Given the description of an element on the screen output the (x, y) to click on. 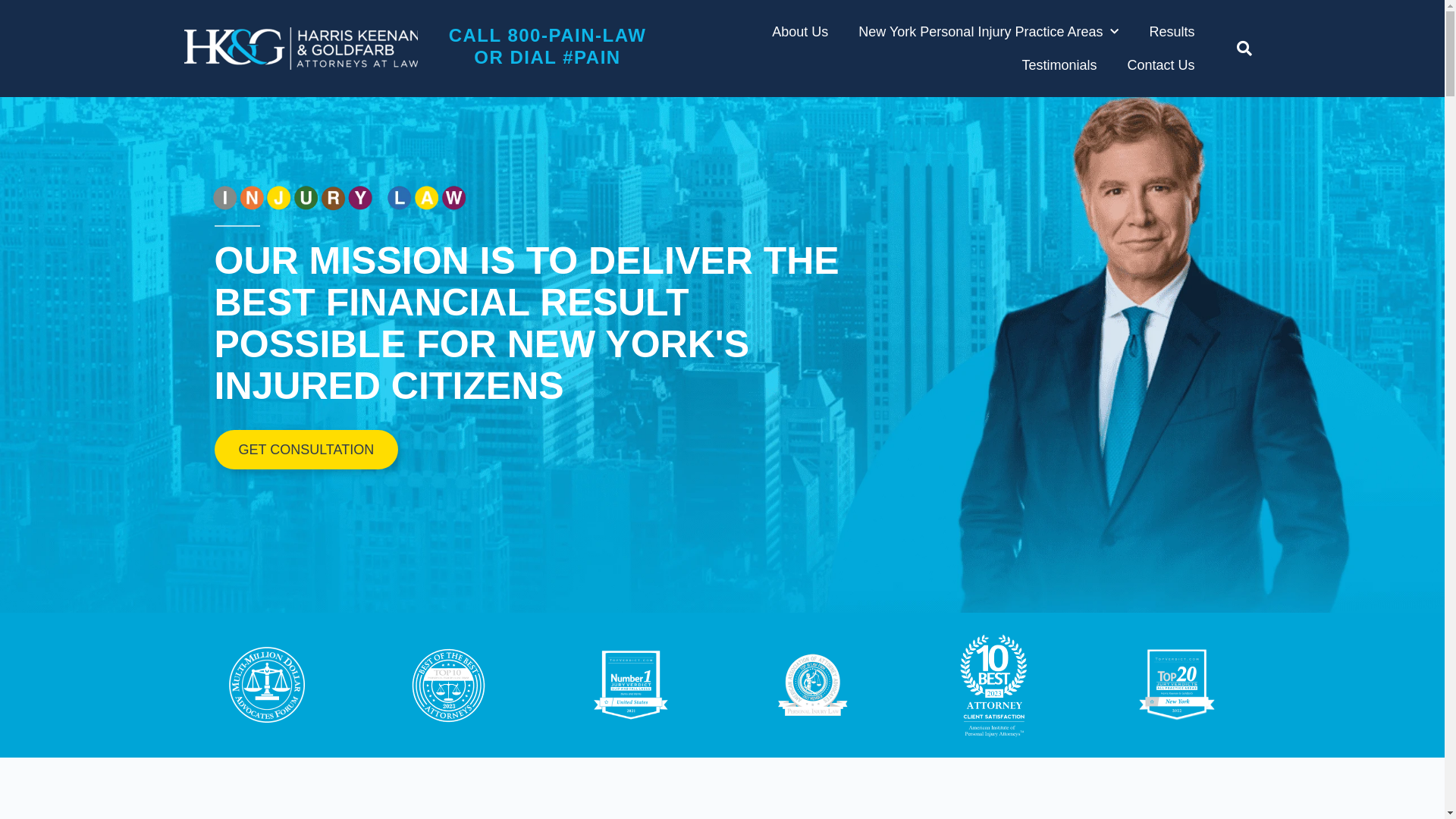
Contact Us Element type: text (1160, 64)
HKGLogo_blue.png Element type: hover (300, 48)
New York Personal Injury Practice Areas Element type: text (988, 31)
CALL 800-PAIN-LAW OR DIAL #PAIN Element type: text (547, 46)
Testimonials Element type: text (1058, 64)
About Us Element type: text (799, 31)
Results Element type: text (1171, 31)
